Given the description of an element on the screen output the (x, y) to click on. 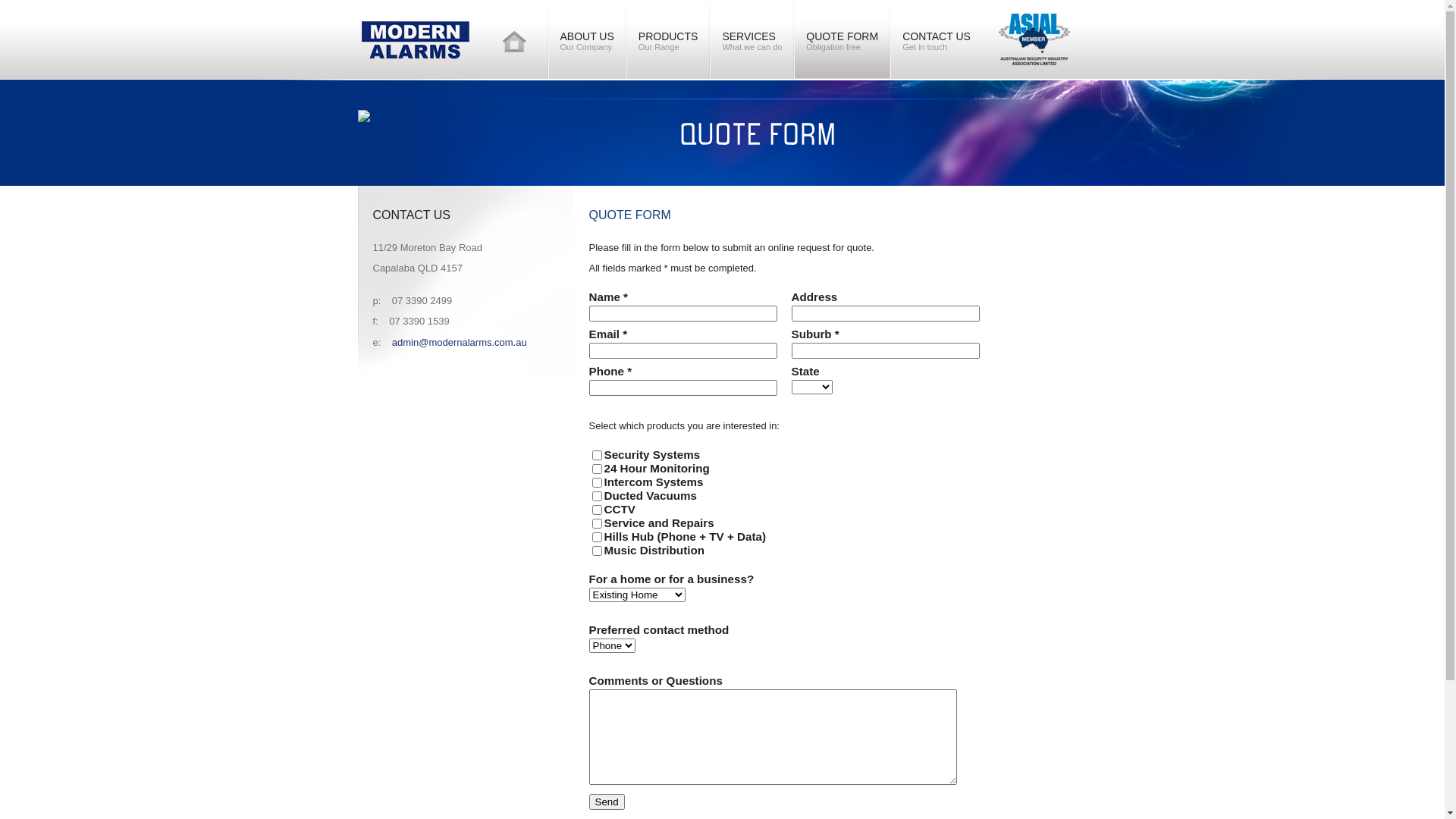
PRODUCTS
Our Range Element type: text (668, 39)
Send Element type: text (606, 801)
admin@modernalarms.com.au Element type: text (459, 342)
QUOTE FORM
Obligation free Element type: text (841, 39)
CONTACT US
Get in touch Element type: text (936, 39)
SERVICES
What we can do Element type: text (751, 39)
ABOUT US
Our Company Element type: text (587, 39)
